Given the description of an element on the screen output the (x, y) to click on. 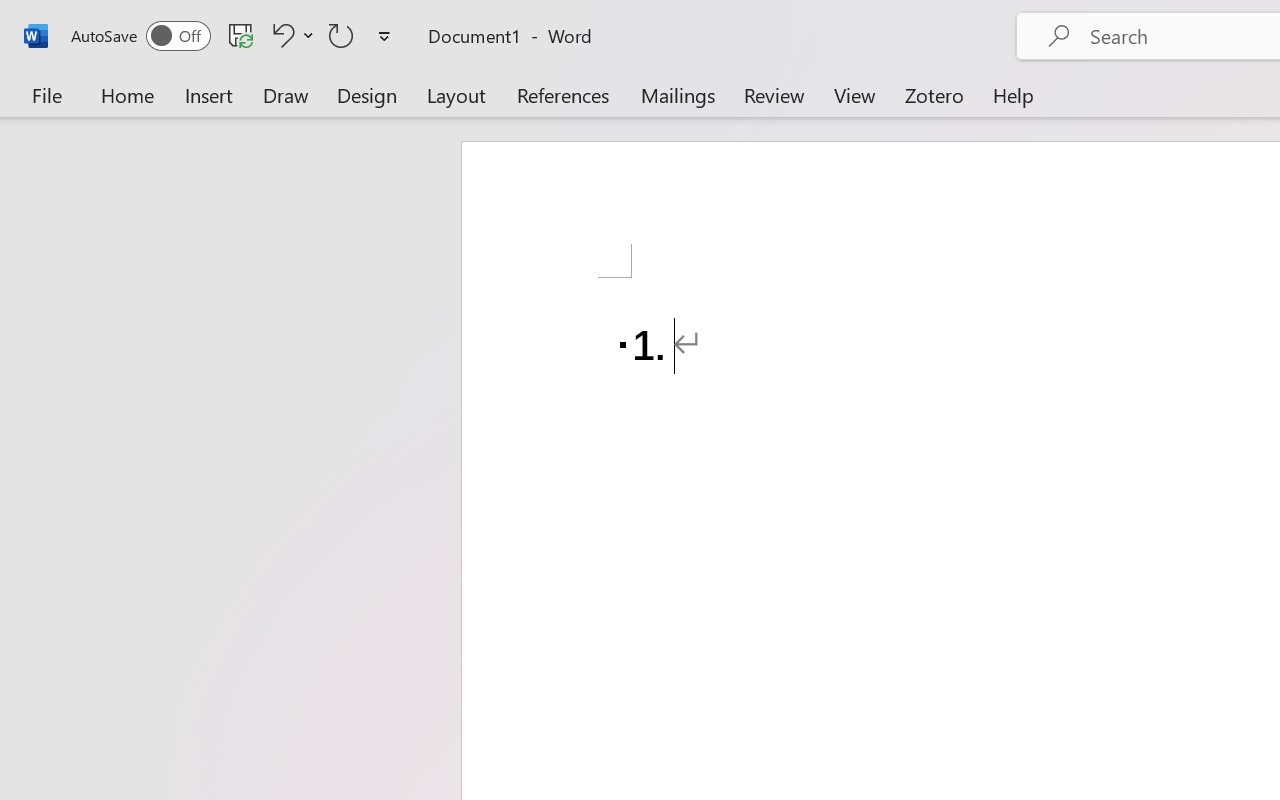
Undo Number Default (280, 35)
